Given the description of an element on the screen output the (x, y) to click on. 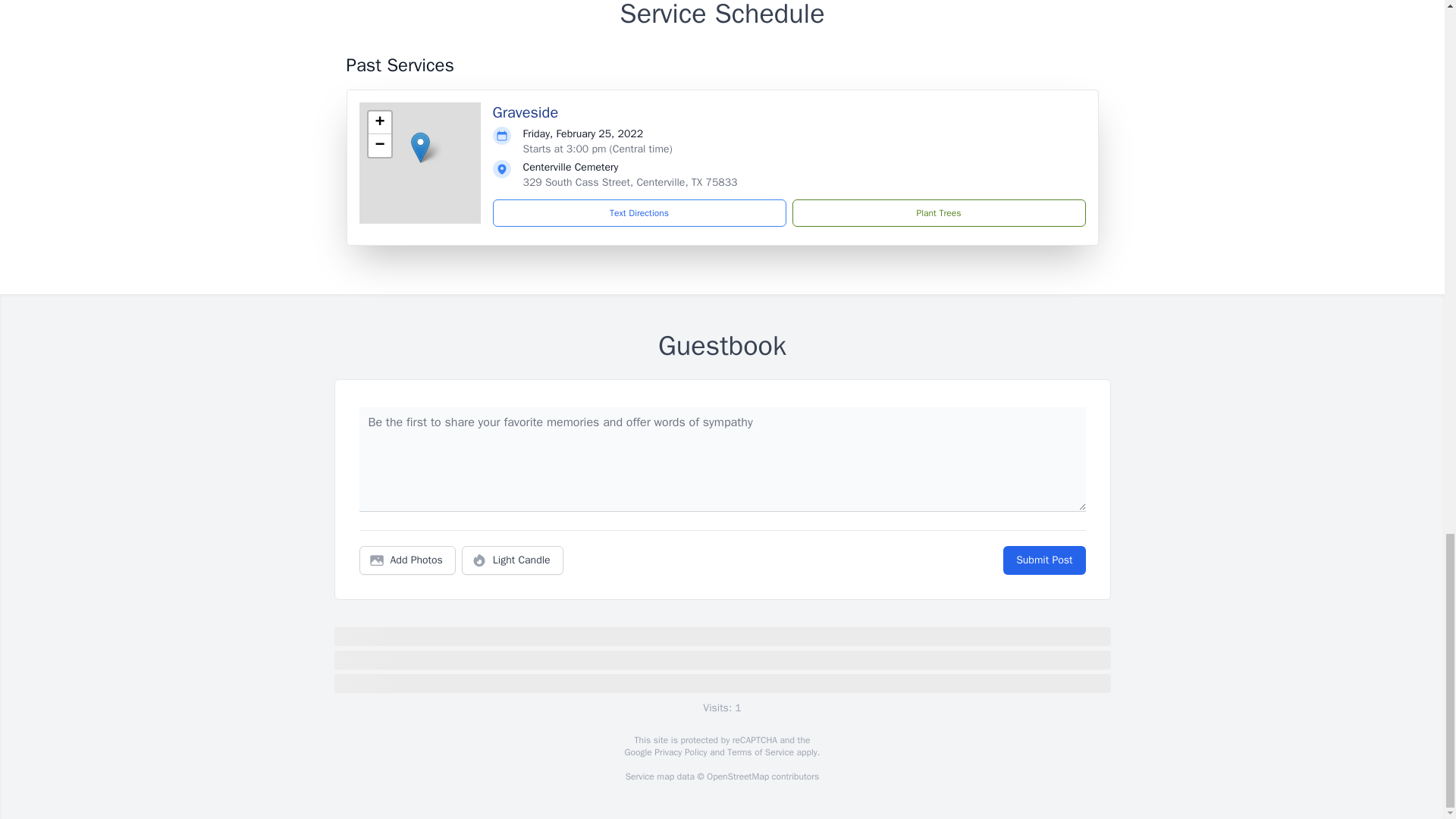
Zoom out (379, 145)
Light Candle (512, 560)
Zoom in (379, 122)
Text Directions (639, 212)
Add Photos (407, 560)
Plant Trees (938, 212)
Privacy Policy (679, 752)
Terms of Service (759, 752)
329 South Cass Street, Centerville, TX 75833 (630, 182)
Submit Post (1043, 560)
OpenStreetMap (737, 776)
